Given the description of an element on the screen output the (x, y) to click on. 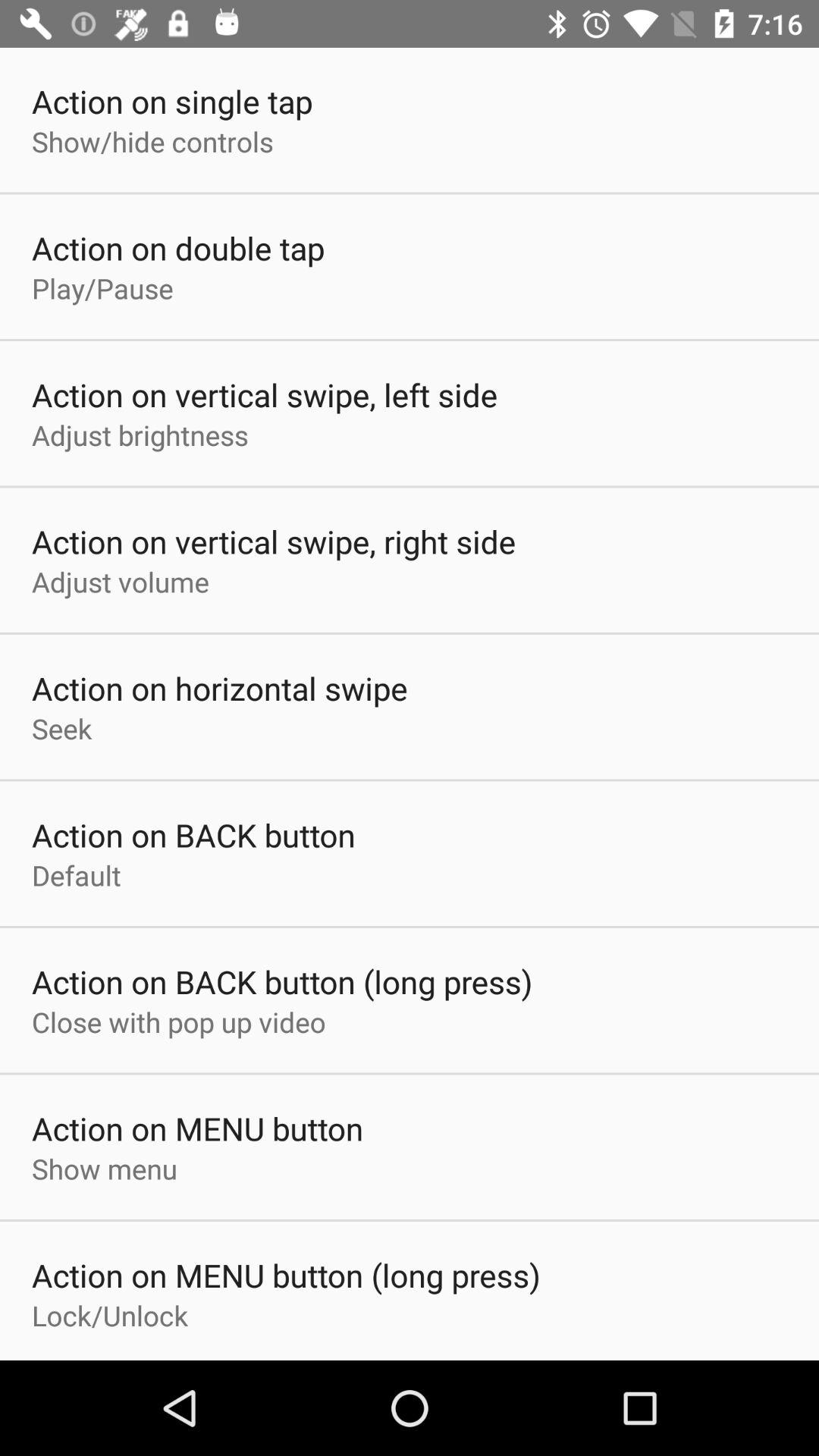
launch app below the action on double app (102, 288)
